Given the description of an element on the screen output the (x, y) to click on. 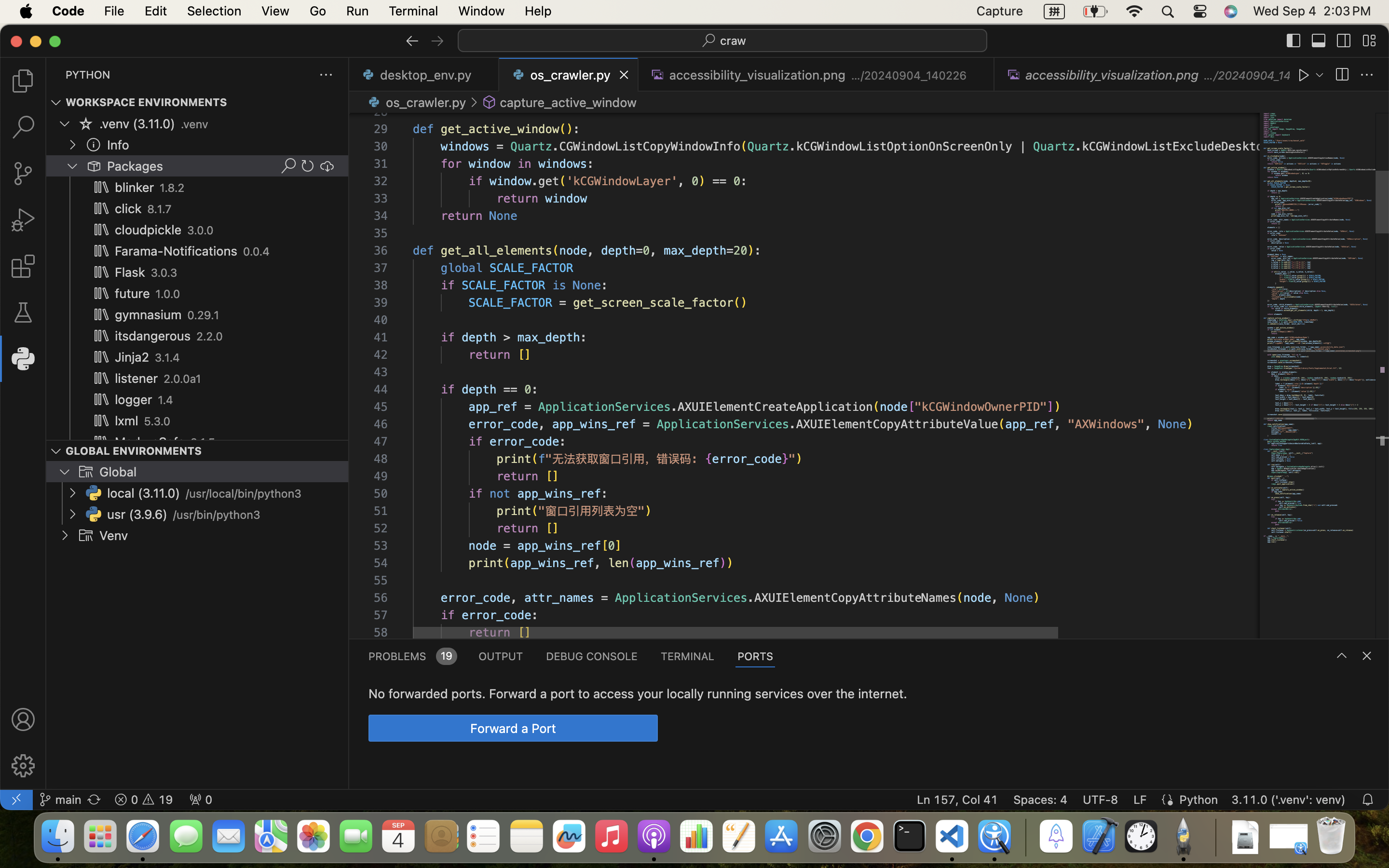
 Element type: AXButton (1341, 74)
PYTHON Element type: AXStaticText (87, 74)
0 TERMINAL Element type: AXRadioButton (687, 655)
os_crawler.py  Element type: AXGroup (415, 101)
3.0.3 Element type: AXStaticText (163, 272)
